Given the description of an element on the screen output the (x, y) to click on. 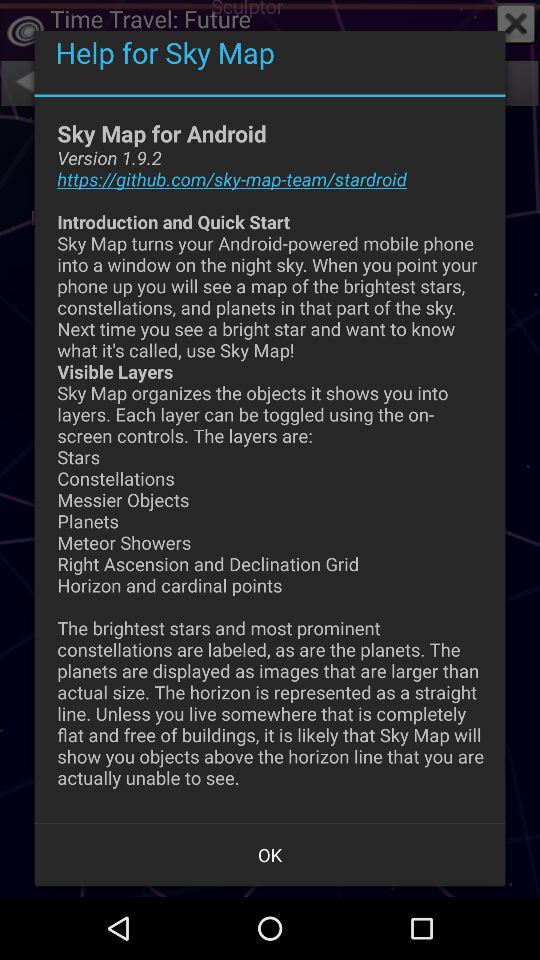
open ok item (269, 854)
